Given the description of an element on the screen output the (x, y) to click on. 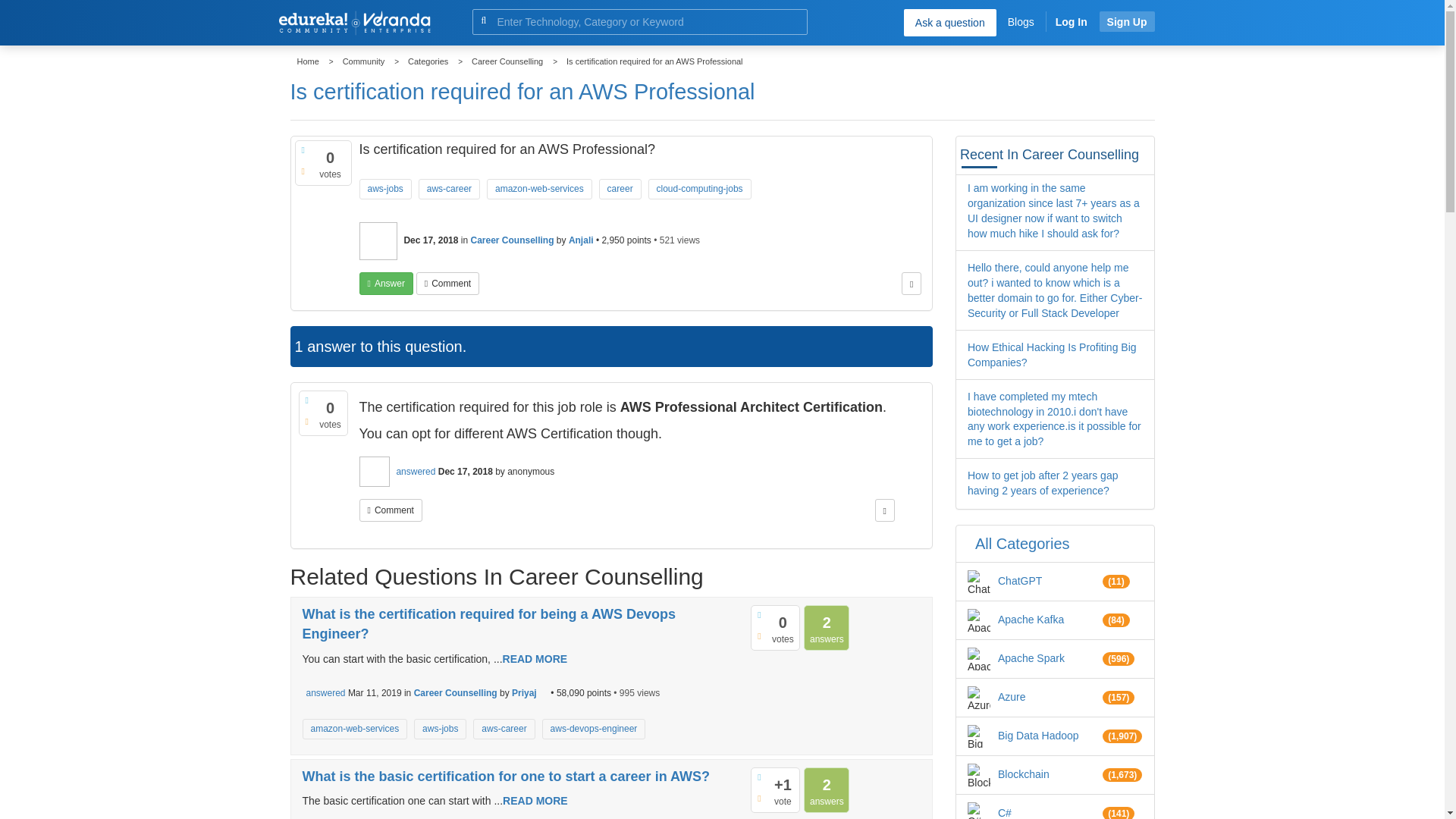
Ask a question (949, 22)
Add a comment on this answer (390, 509)
Add a comment on this question (447, 282)
Blogs (1020, 21)
Answer this question (386, 282)
